Given the description of an element on the screen output the (x, y) to click on. 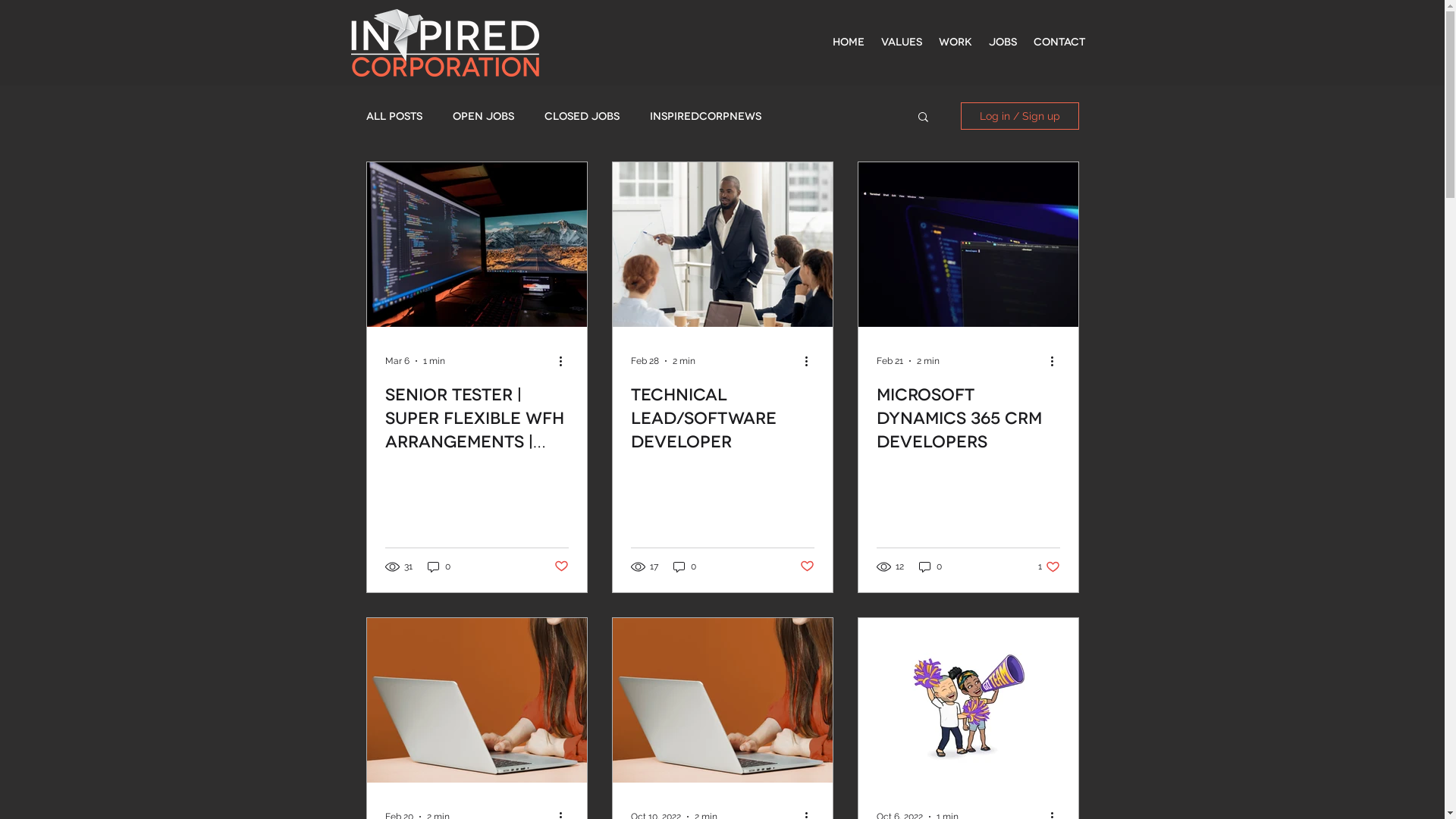
Post not marked as liked Element type: text (560, 566)
VALUES Element type: text (900, 42)
All Posts Element type: text (393, 115)
0 Element type: text (930, 566)
JOBS Element type: text (1001, 42)
0 Element type: text (438, 566)
Microsoft Dynamics 365 CRM Developers Element type: text (968, 418)
Post not marked as liked Element type: text (806, 566)
Open Jobs Element type: text (482, 115)
1 like. Post not marked as liked
1 Element type: text (1048, 566)
WORK Element type: text (954, 42)
Log in / Sign up Element type: text (1019, 115)
TECHNICAL LEAD/SOFTWARE DEVELOPER Element type: text (722, 418)
HOME Element type: text (847, 42)
Closed Jobs Element type: text (581, 115)
InspiredCorpNews Element type: text (704, 115)
0 Element type: text (684, 566)
CONTACT Element type: text (1059, 42)
